Given the description of an element on the screen output the (x, y) to click on. 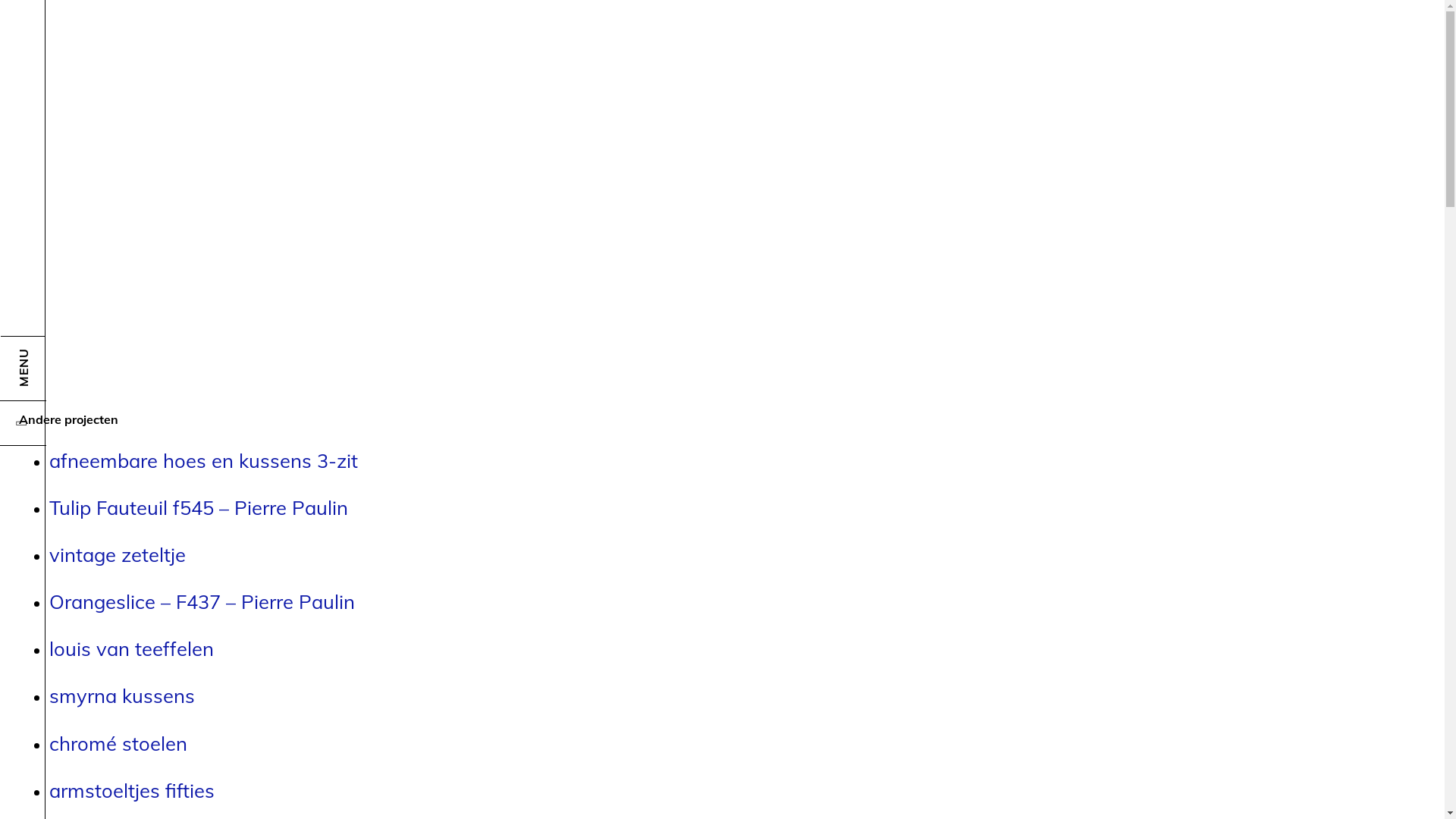
smyrna kussens Element type: text (121, 695)
louis van teeffelen Element type: text (131, 648)
armstoeltjes fifties Element type: text (131, 790)
afneembare hoes en kussens 3-zit Element type: text (203, 460)
vintage zeteltje Element type: text (117, 554)
